Given the description of an element on the screen output the (x, y) to click on. 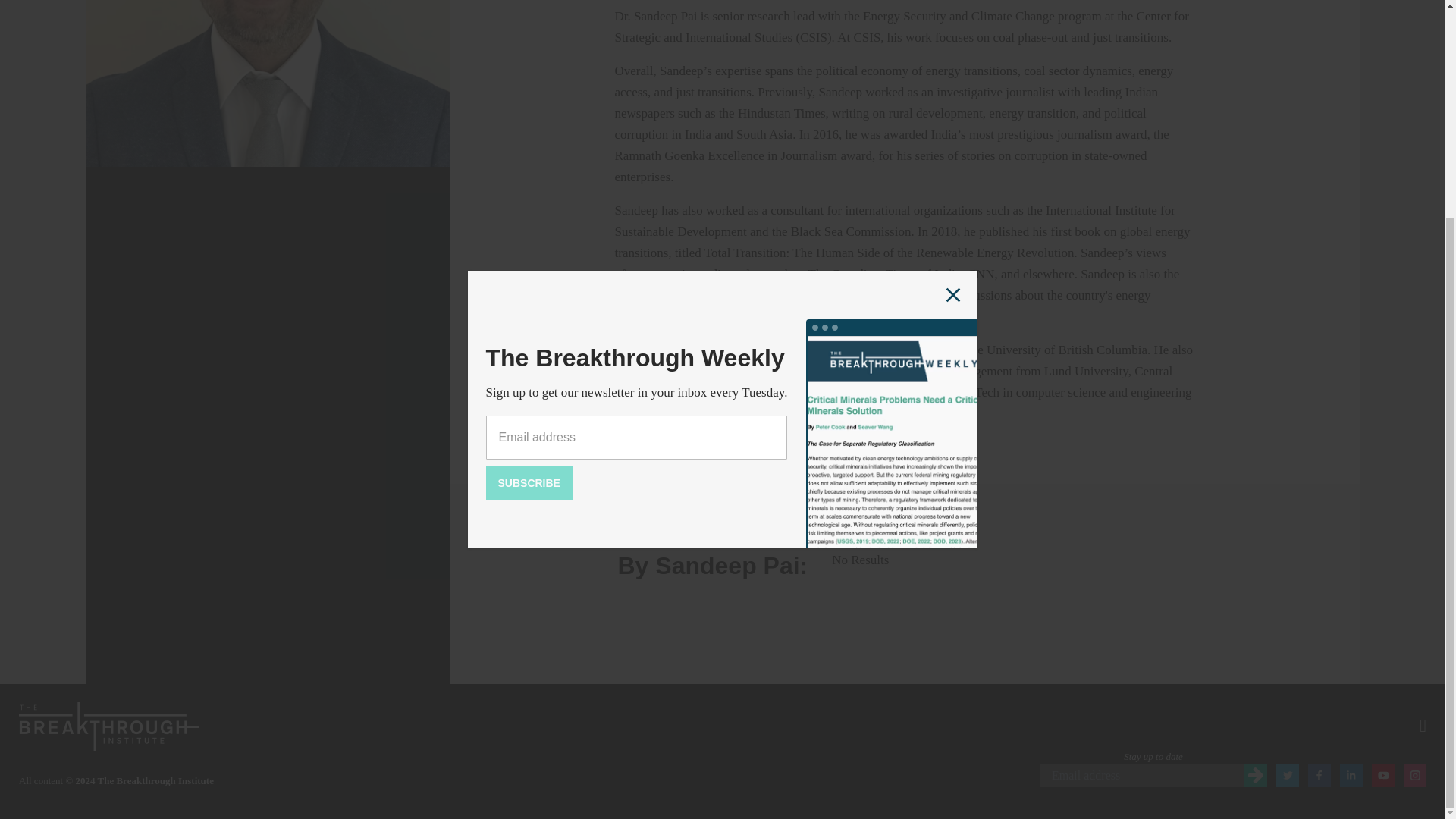
The Breakthrough (108, 725)
Subscribe (528, 196)
Submit (1255, 775)
Submit (1255, 775)
